Given the description of an element on the screen output the (x, y) to click on. 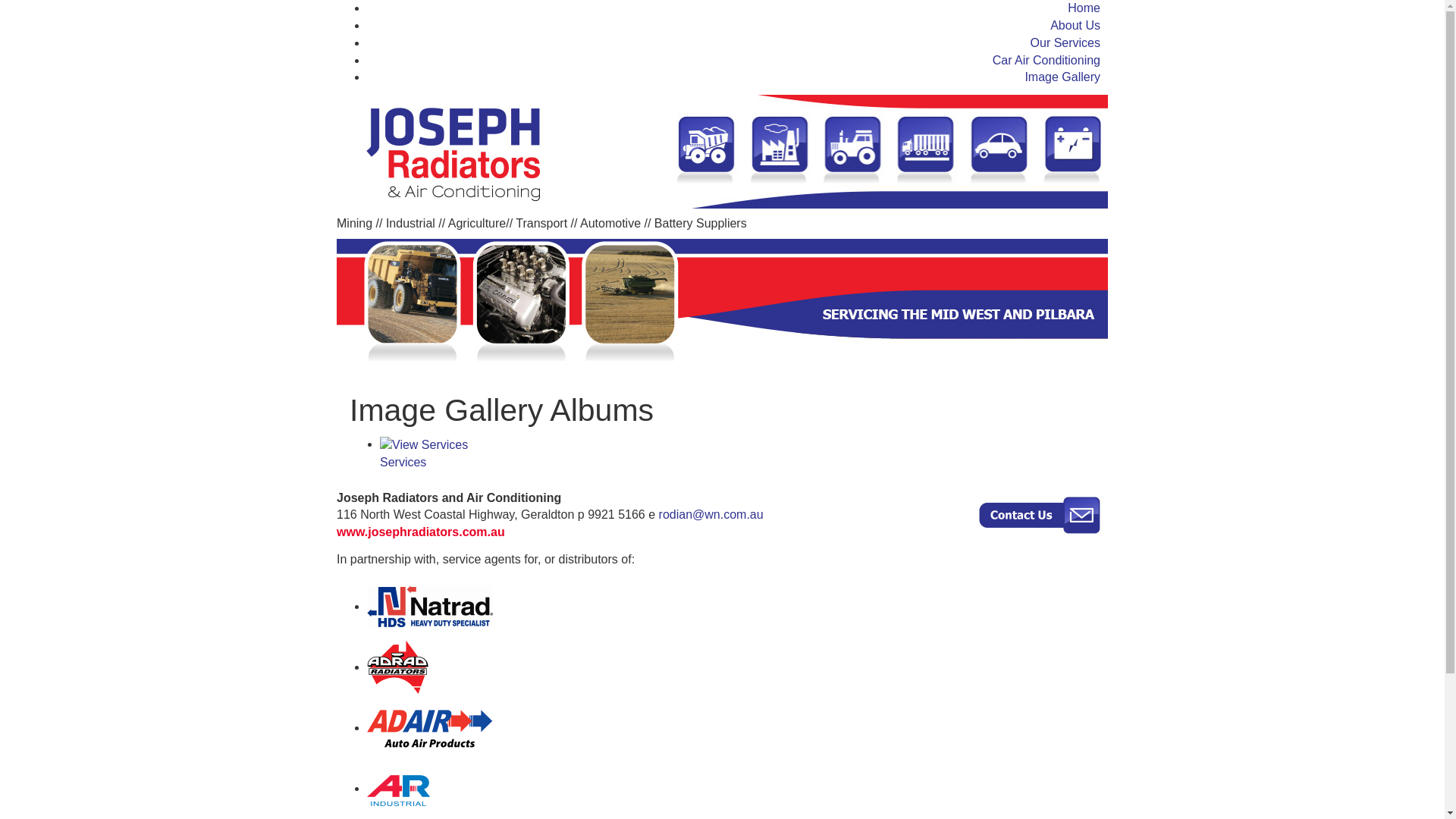
Home Element type: text (1083, 7)
Services Element type: text (740, 453)
Image Gallery Element type: text (1062, 76)
Car Air Conditioning Element type: text (1046, 59)
Services Element type: hover (423, 445)
rodian@wn.com.au Element type: text (710, 514)
www.josephradiators.com.au Element type: text (420, 531)
About Us Element type: text (1075, 24)
Our Services Element type: text (1065, 42)
